Given the description of an element on the screen output the (x, y) to click on. 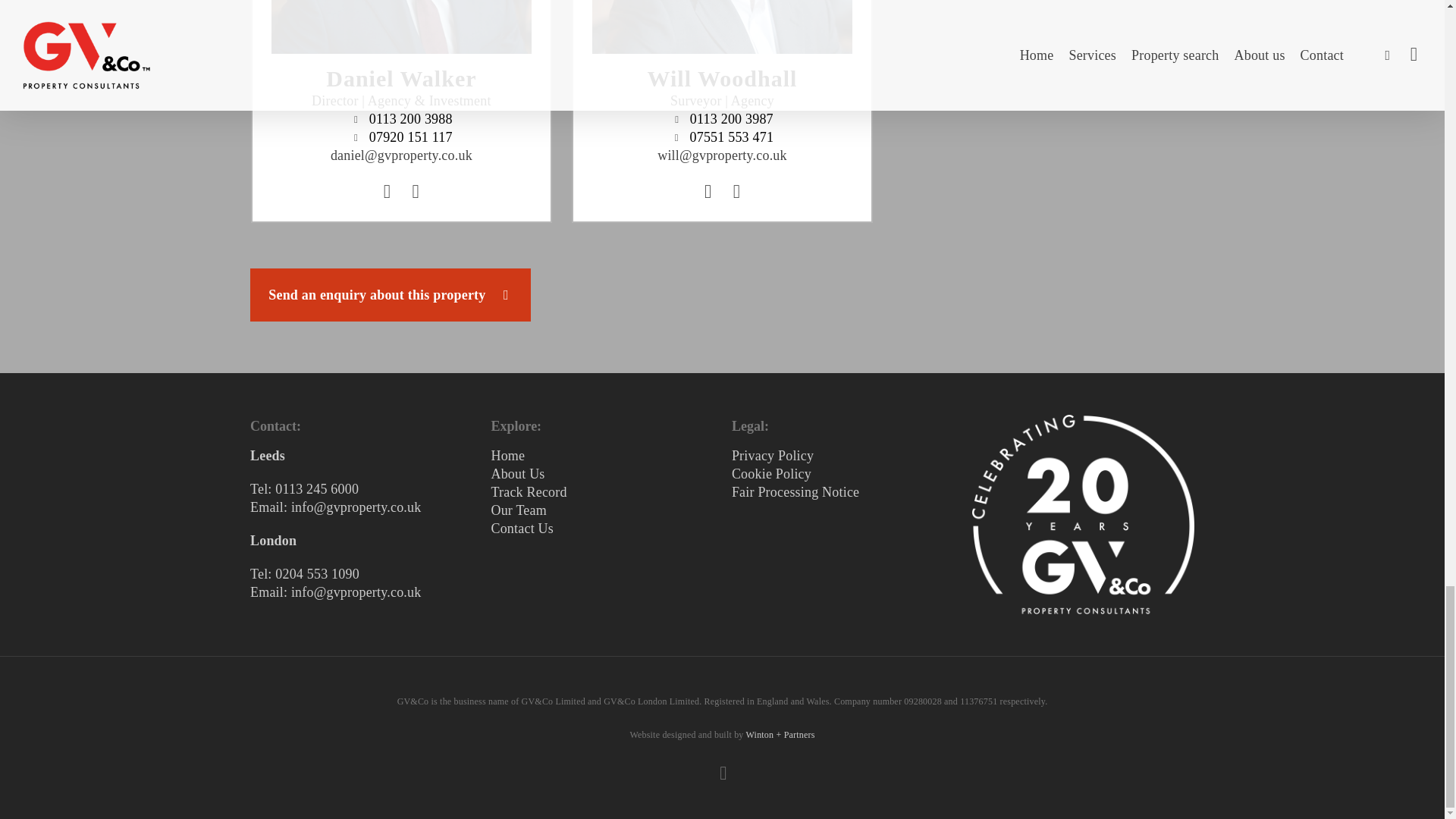
Send an enquiry about this property (390, 294)
Home (507, 455)
Our Team (518, 509)
About Us (517, 473)
Track Record (528, 491)
